Given the description of an element on the screen output the (x, y) to click on. 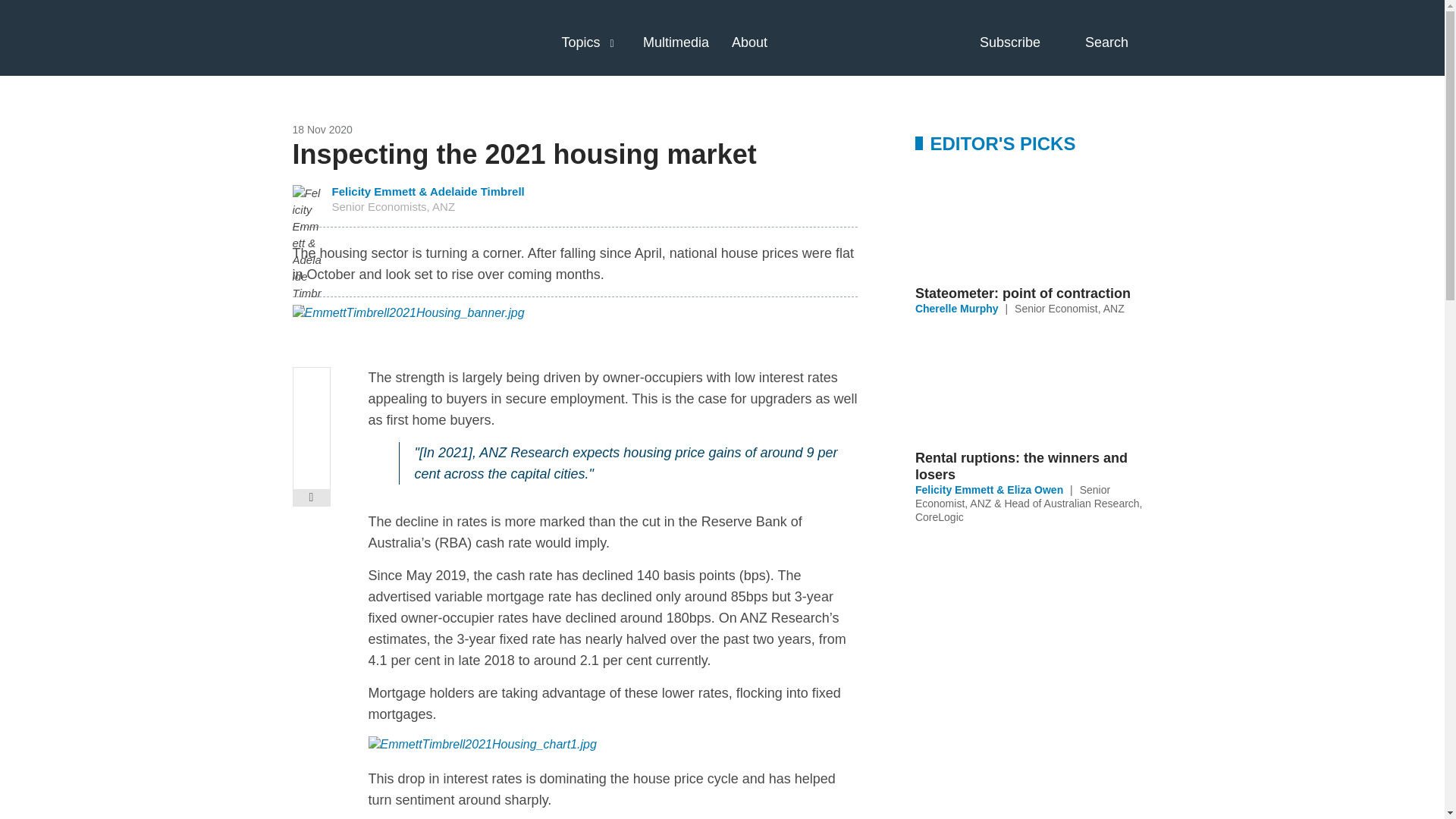
Search (1118, 42)
Stateometer: point of contraction (1033, 293)
Multimedia (676, 42)
Rental ruptions: the winners and losers (1033, 466)
Senior Economist, ANZ (1069, 308)
Topics (579, 42)
Subscribe (1023, 42)
About (749, 42)
